Given the description of an element on the screen output the (x, y) to click on. 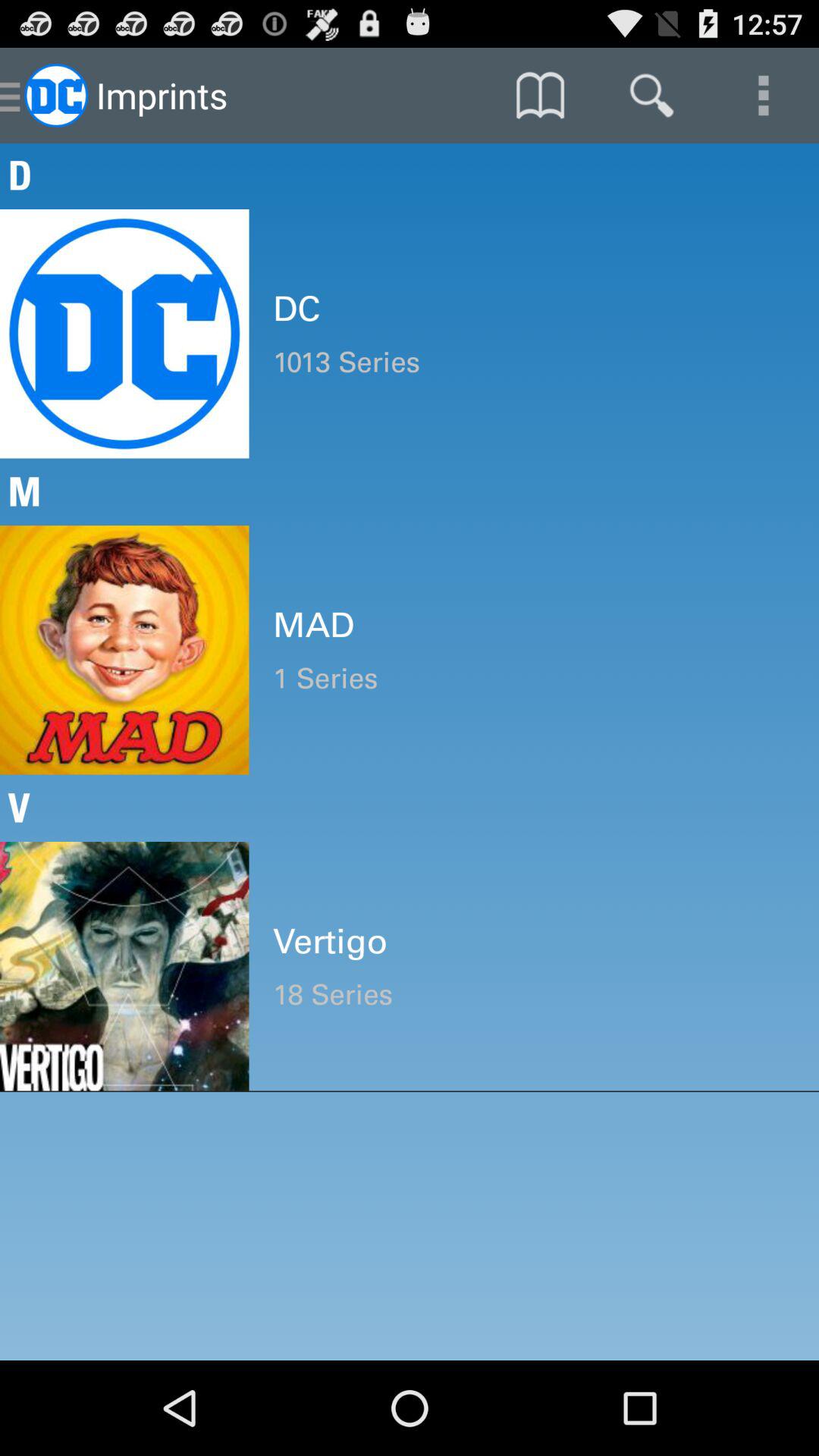
choose the item above the v item (534, 678)
